Given the description of an element on the screen output the (x, y) to click on. 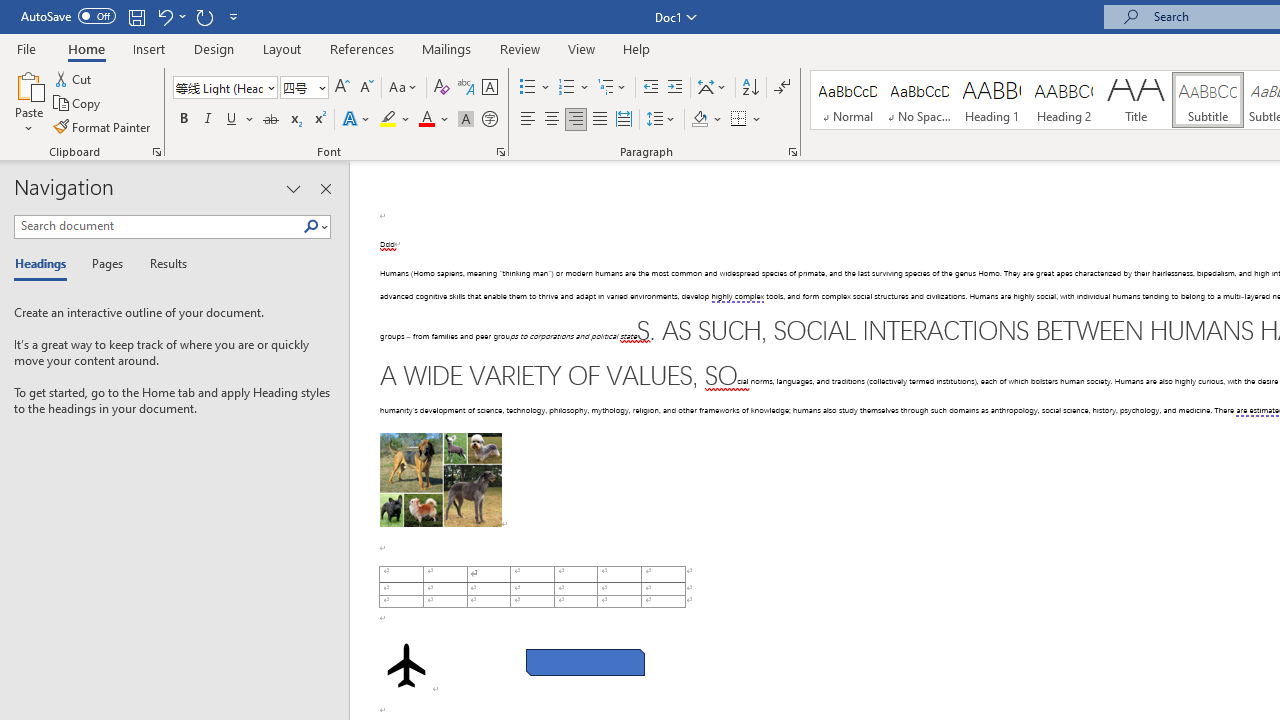
Shading RGB(0, 0, 0) (699, 119)
Font Color (434, 119)
Subscript (294, 119)
References (362, 48)
Title (1135, 100)
Center (552, 119)
AutoSave (68, 16)
Underline (232, 119)
Decrease Indent (650, 87)
Close pane (325, 188)
Align Left (527, 119)
Save (136, 15)
Home (86, 48)
Bold (183, 119)
Help (637, 48)
